Given the description of an element on the screen output the (x, y) to click on. 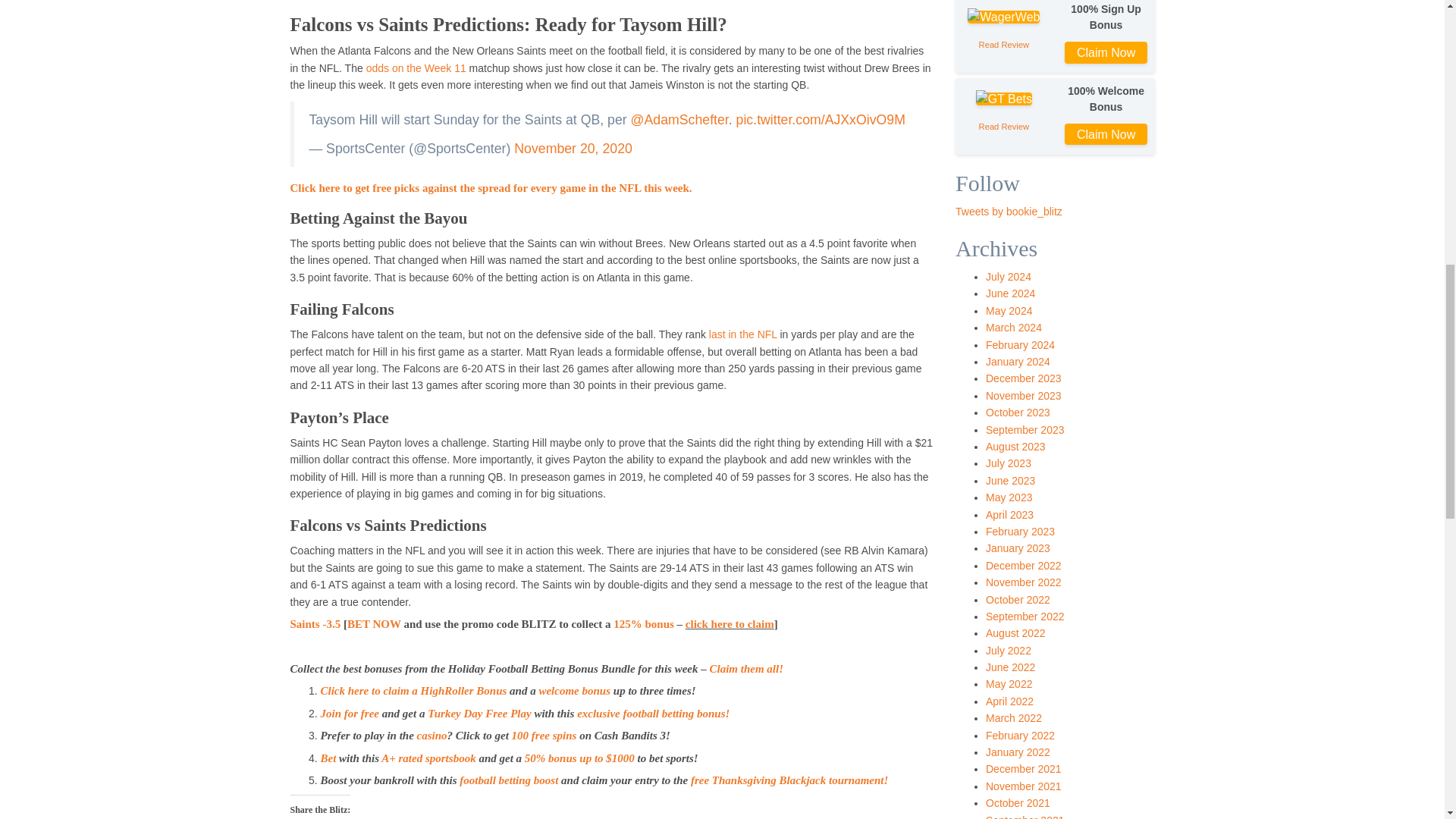
odds on the Week 11 (415, 68)
100 free spins  (545, 735)
last in the NFL (743, 334)
Join for free (349, 713)
welcome bonus (574, 690)
November 20, 2020 (572, 148)
click here to claim (729, 623)
exclusive football betting bonus! (652, 713)
Turkey Day Free Play (479, 713)
